Given the description of an element on the screen output the (x, y) to click on. 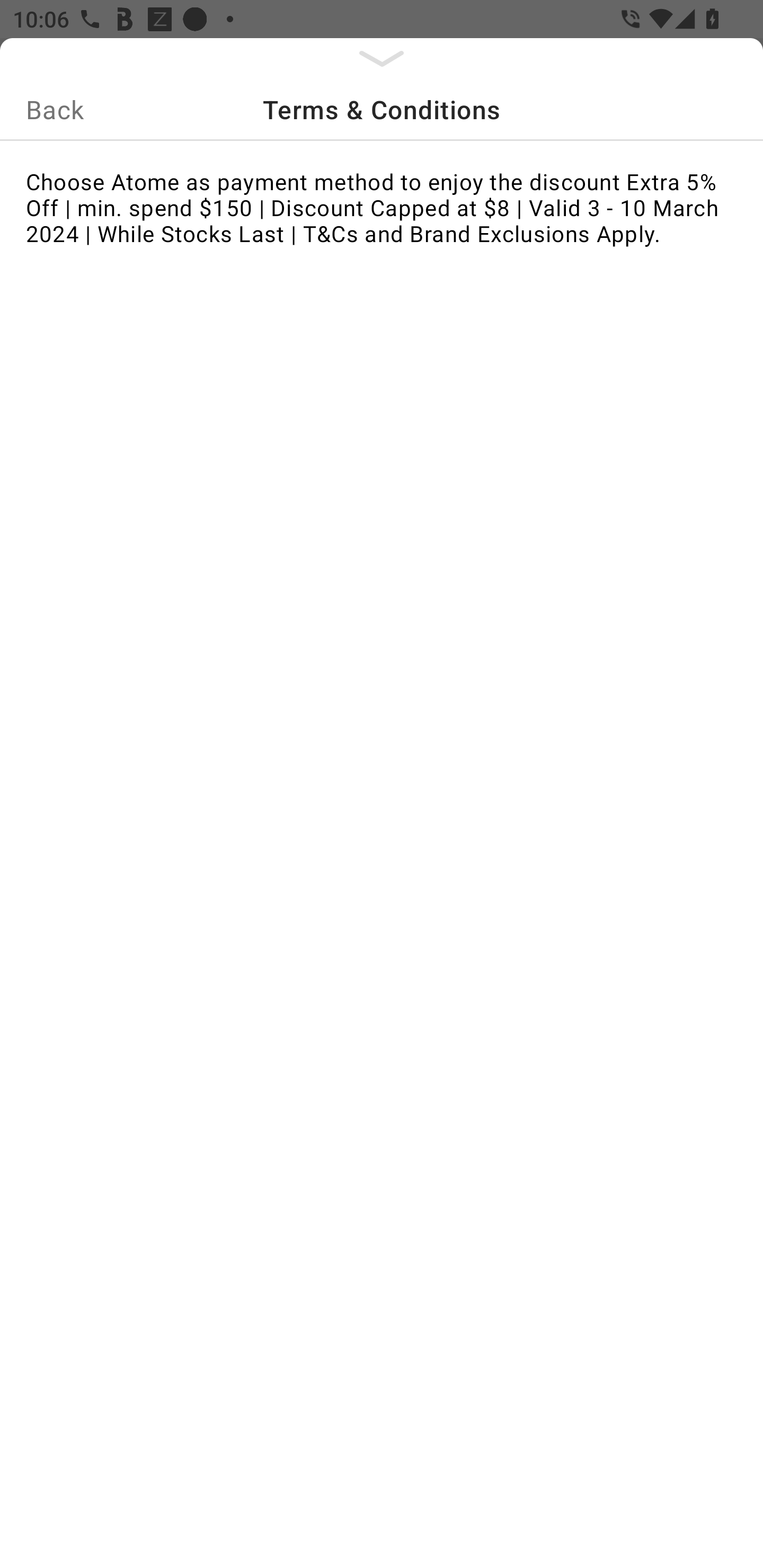
Back (54, 109)
